Given the description of an element on the screen output the (x, y) to click on. 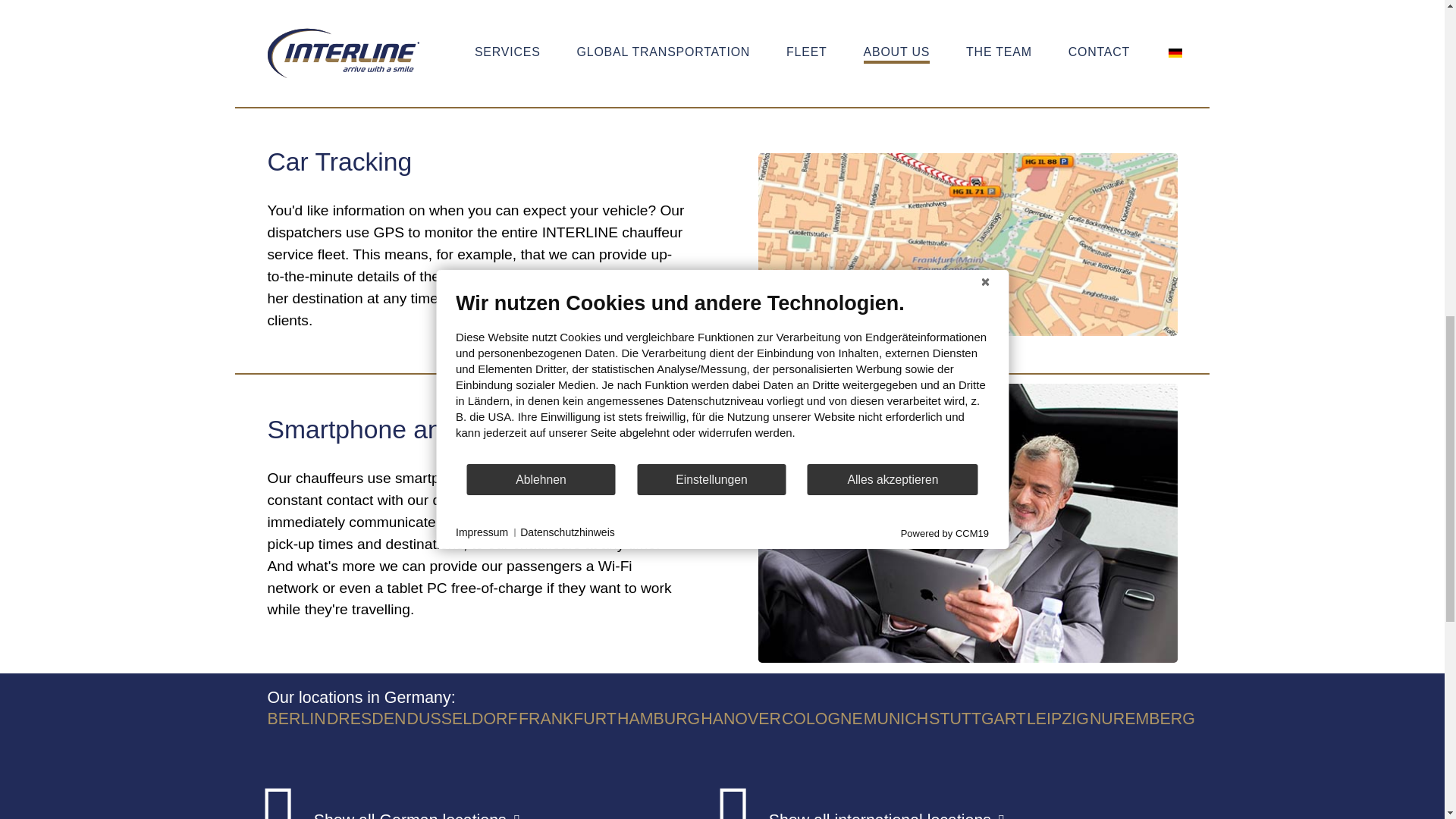
LEIPZIG (1057, 718)
HANOVER (740, 718)
HAMBURG (658, 718)
STUTTGART (977, 718)
COLOGNE (821, 718)
DUSSELDORF (462, 718)
BERLIN (296, 718)
DRESDEN (366, 718)
NUREMBERG (1142, 718)
MUNICH (895, 718)
